Given the description of an element on the screen output the (x, y) to click on. 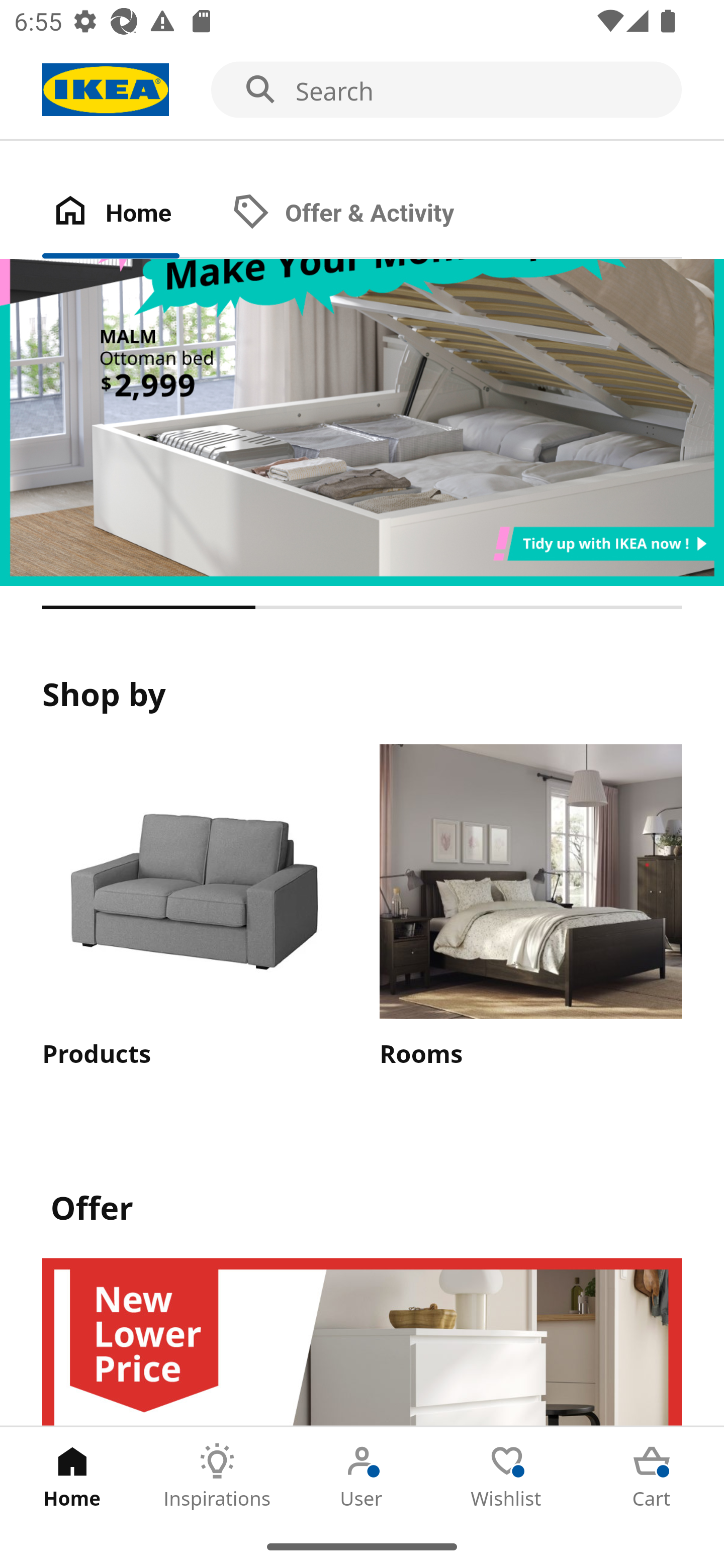
Search (361, 90)
Home
Tab 1 of 2 (131, 213)
Offer & Activity
Tab 2 of 2 (363, 213)
Products (192, 907)
Rooms (530, 907)
Home
Tab 1 of 5 (72, 1476)
Inspirations
Tab 2 of 5 (216, 1476)
User
Tab 3 of 5 (361, 1476)
Wishlist
Tab 4 of 5 (506, 1476)
Cart
Tab 5 of 5 (651, 1476)
